Given the description of an element on the screen output the (x, y) to click on. 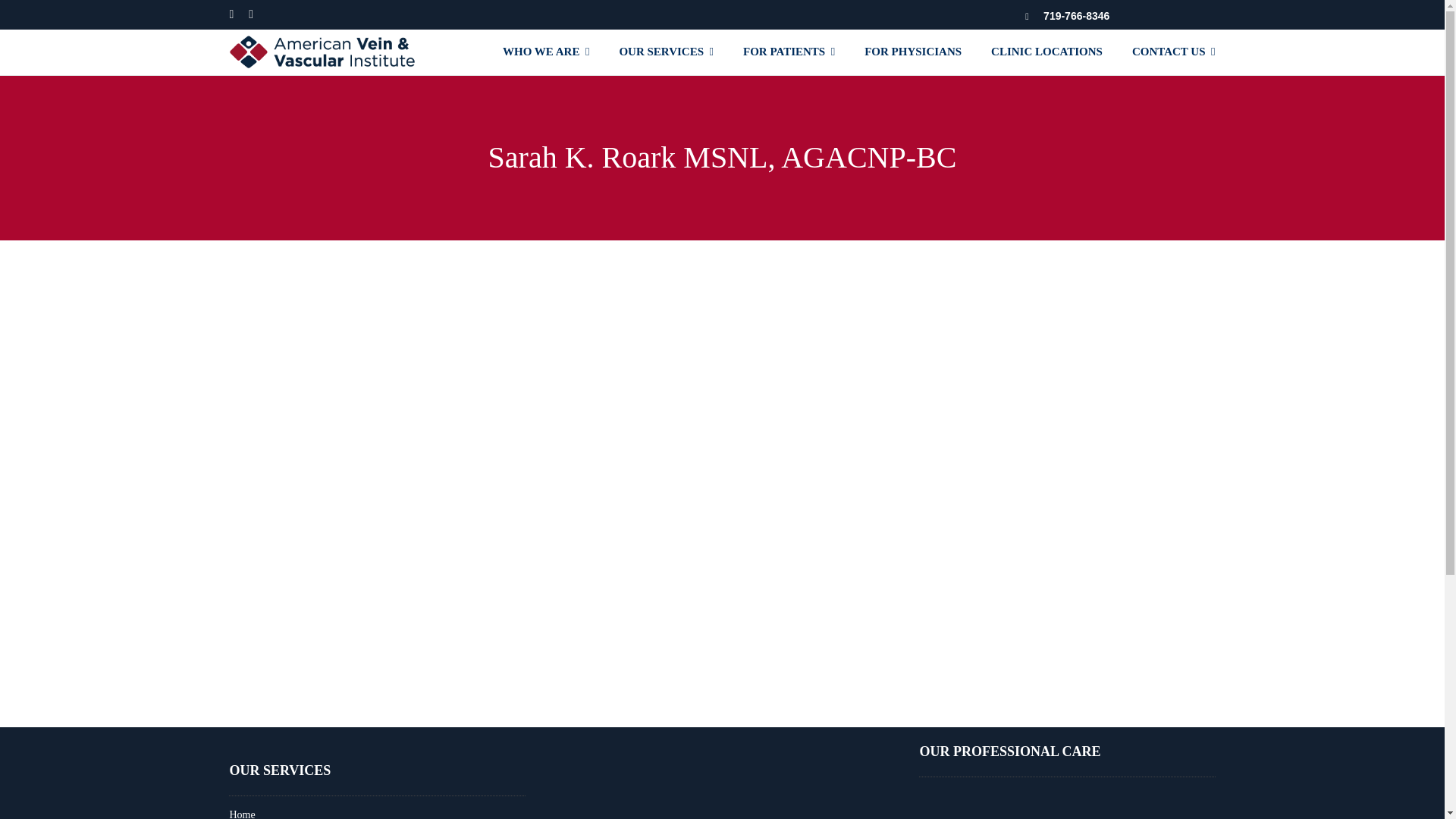
WHO WE ARE (545, 52)
Facebook (230, 14)
IAC-vascular-1 (667, 778)
OUR SERVICES (665, 52)
FOR PATIENTS (788, 52)
FOR PHYSICIANS (912, 52)
CLINIC LOCATIONS (1046, 52)
719-766-8346 (1076, 15)
YouTube (250, 14)
